Given the description of an element on the screen output the (x, y) to click on. 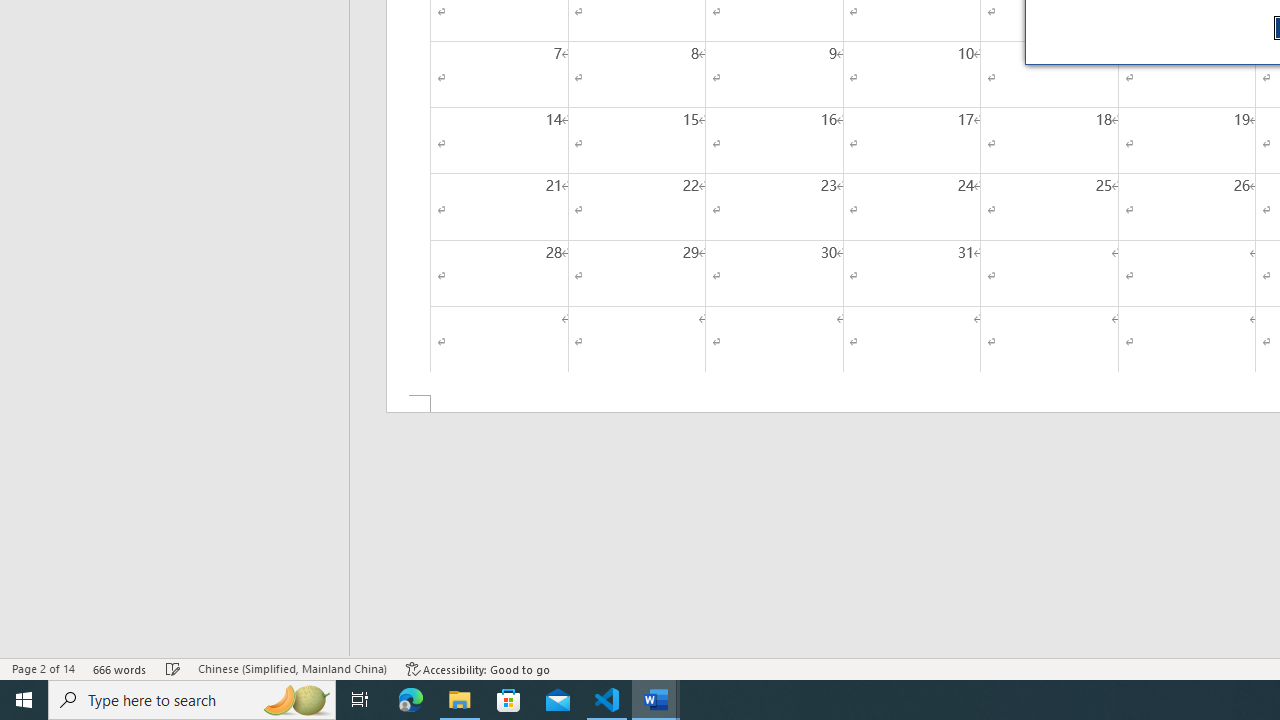
Microsoft Edge (411, 699)
Page Number Page 2 of 14 (43, 668)
